Given the description of an element on the screen output the (x, y) to click on. 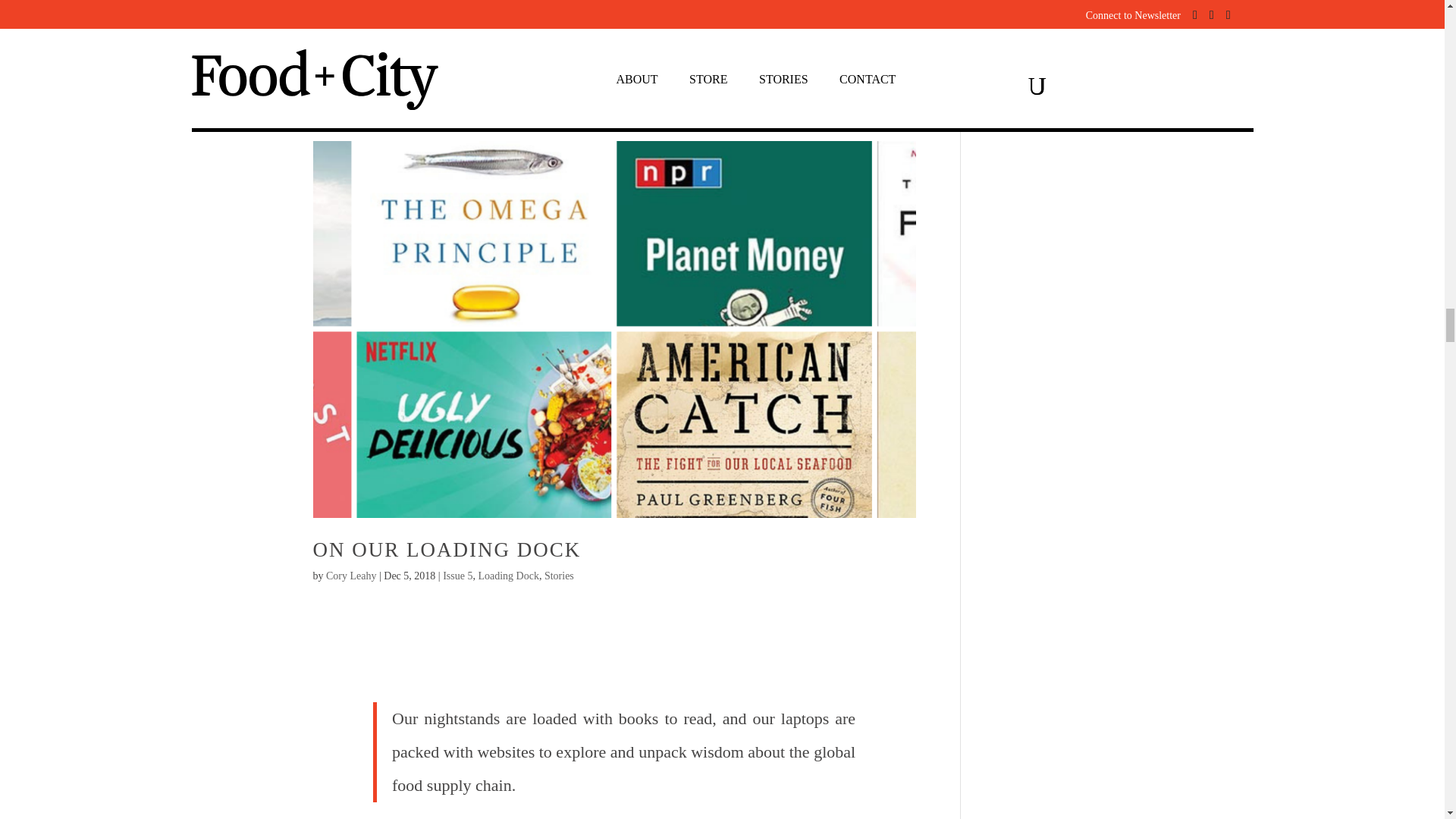
WANT MORE STORIES? GET OUR NEWSLETTER (614, 16)
Loading Dock (507, 575)
Cory Leahy (350, 575)
Posts by Cory Leahy (350, 575)
Issue 5 (456, 575)
Stories (558, 575)
ON OUR LOADING DOCK (446, 549)
